Given the description of an element on the screen output the (x, y) to click on. 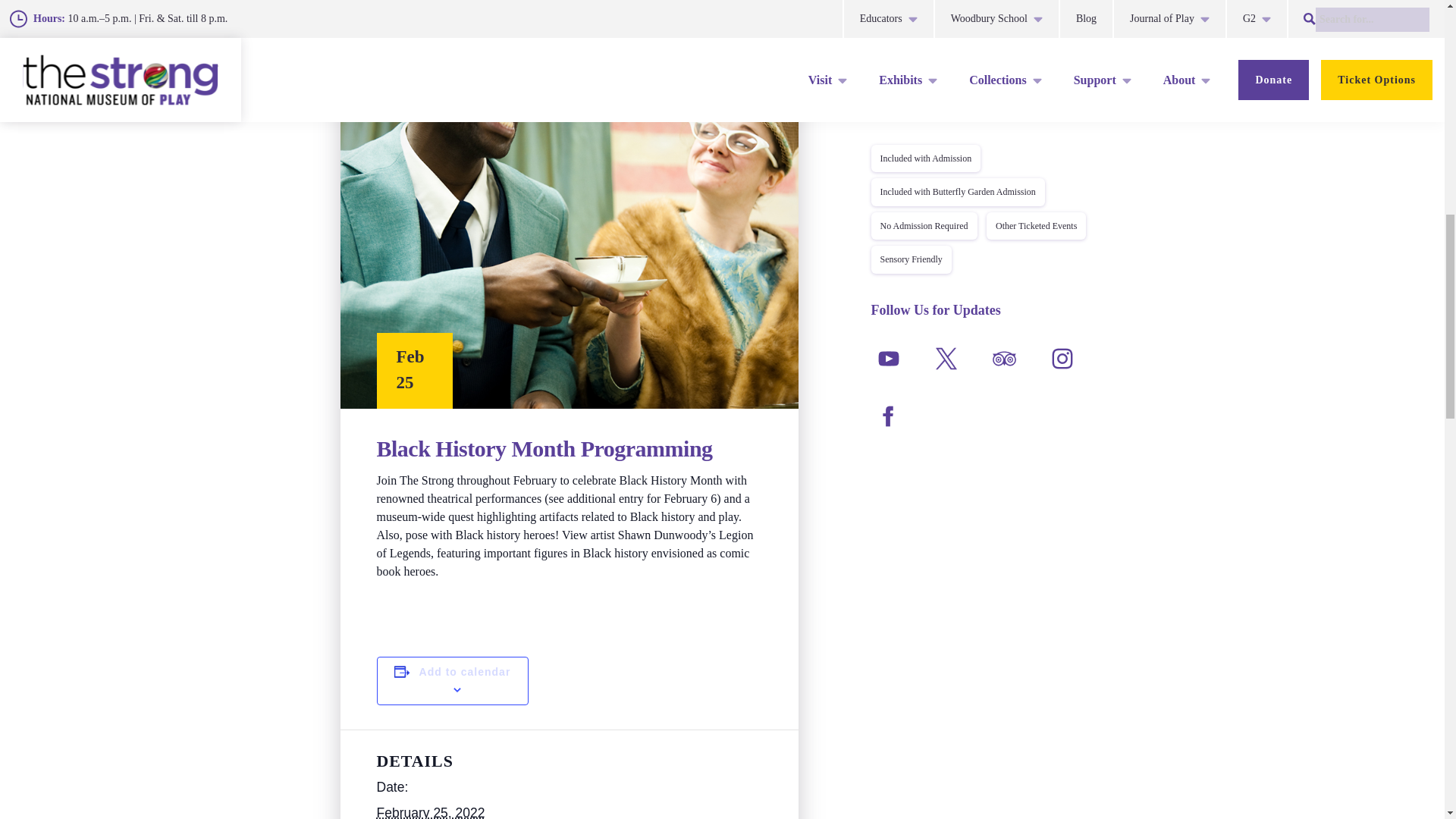
Event Series (344, 38)
2022-02-25 (429, 812)
